Given the description of an element on the screen output the (x, y) to click on. 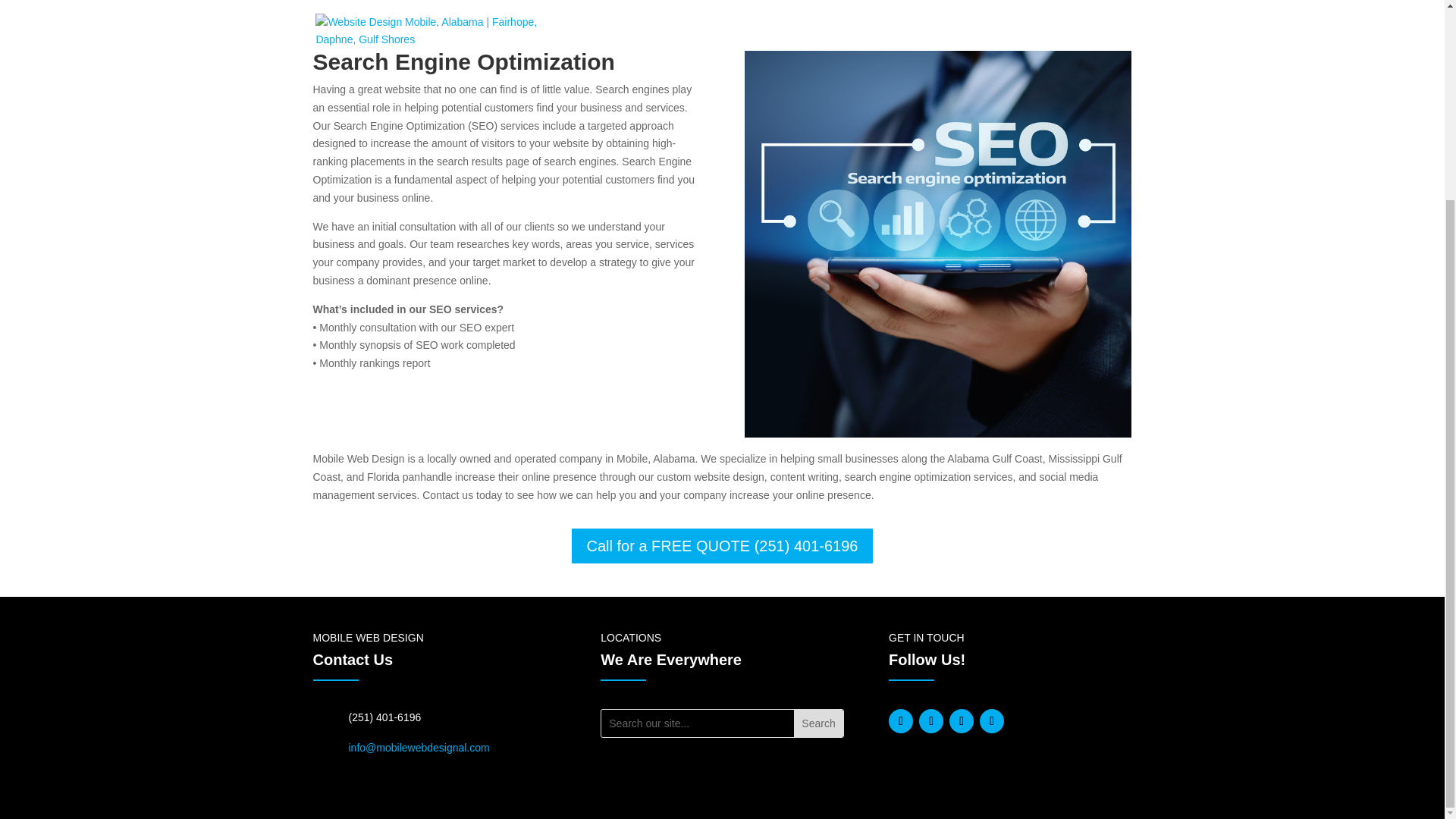
Follow on Twitter (930, 721)
Search (818, 723)
Search (818, 723)
Follow on Instagram (991, 721)
Follow on LinkedIn (961, 721)
Search (818, 723)
Follow on Facebook (900, 721)
